Given the description of an element on the screen output the (x, y) to click on. 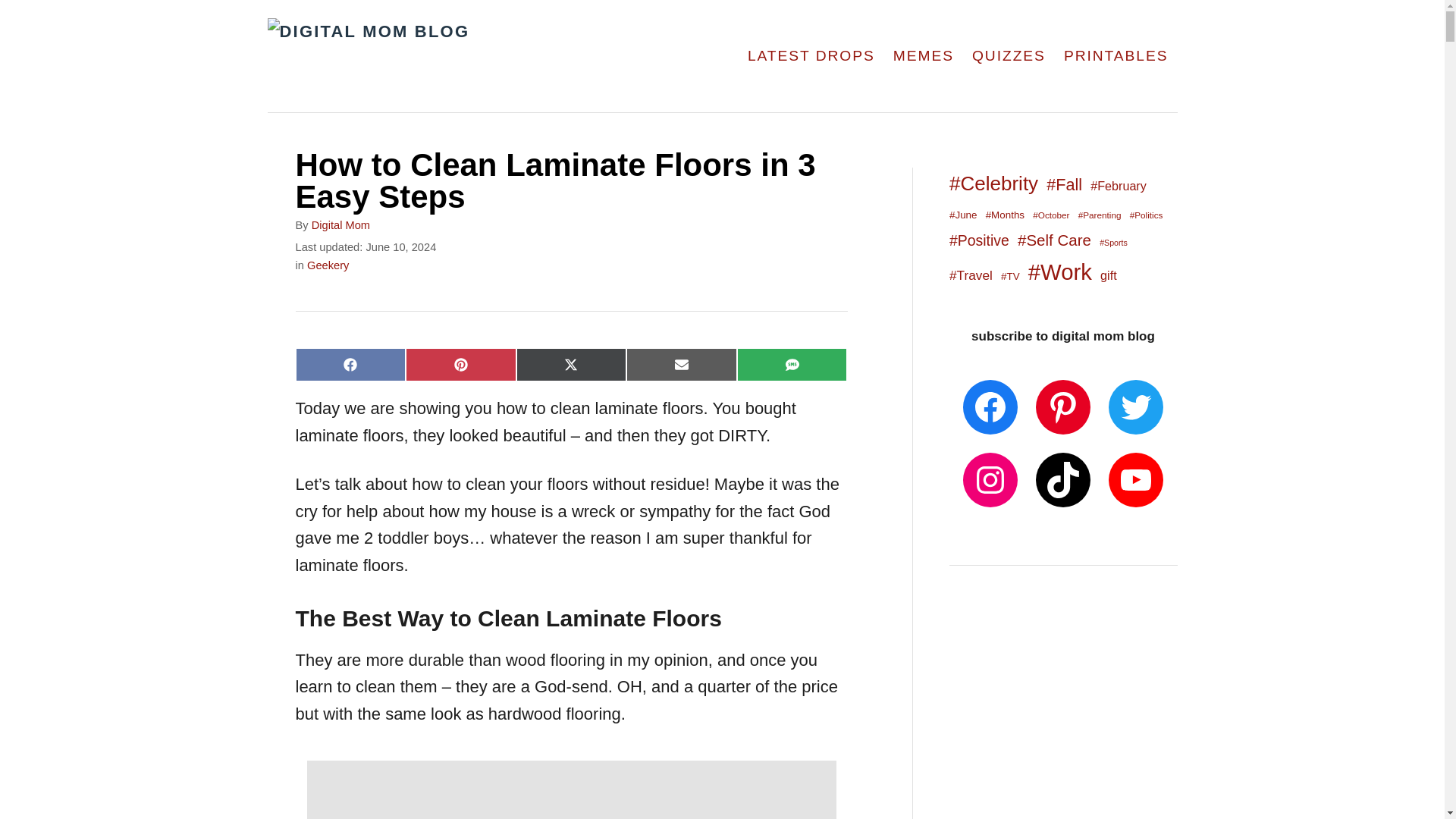
PRINTABLES (1115, 55)
Share on Pinterest (461, 364)
Digital Mom Blog (430, 56)
Digital Mom (340, 224)
Share on Email (681, 364)
Share on Facebook (350, 364)
LATEST DROPS (810, 55)
Share on SMS (791, 364)
MEMES (922, 55)
QUIZZES (1008, 55)
Geekery (328, 265)
how to clean laminate floors 1 (570, 789)
